Given the description of an element on the screen output the (x, y) to click on. 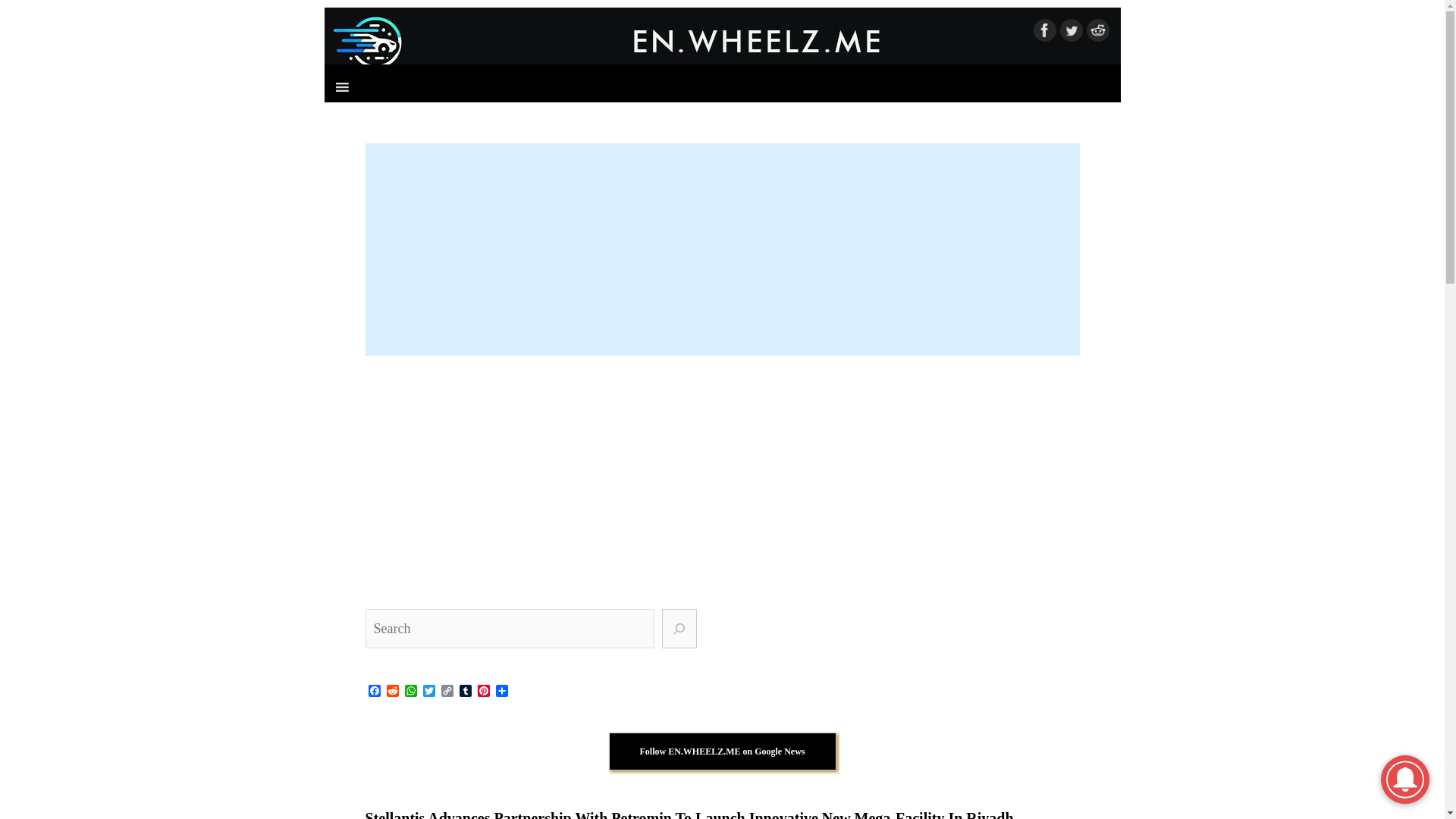
Pinterest (483, 691)
EN.WHEELZ.ME (722, 41)
Reddit (392, 691)
WhatsApp (410, 691)
Pinterest (483, 691)
Twitter (429, 691)
Twitter (429, 691)
Facebook (374, 691)
Tumblr (465, 691)
